Given the description of an element on the screen output the (x, y) to click on. 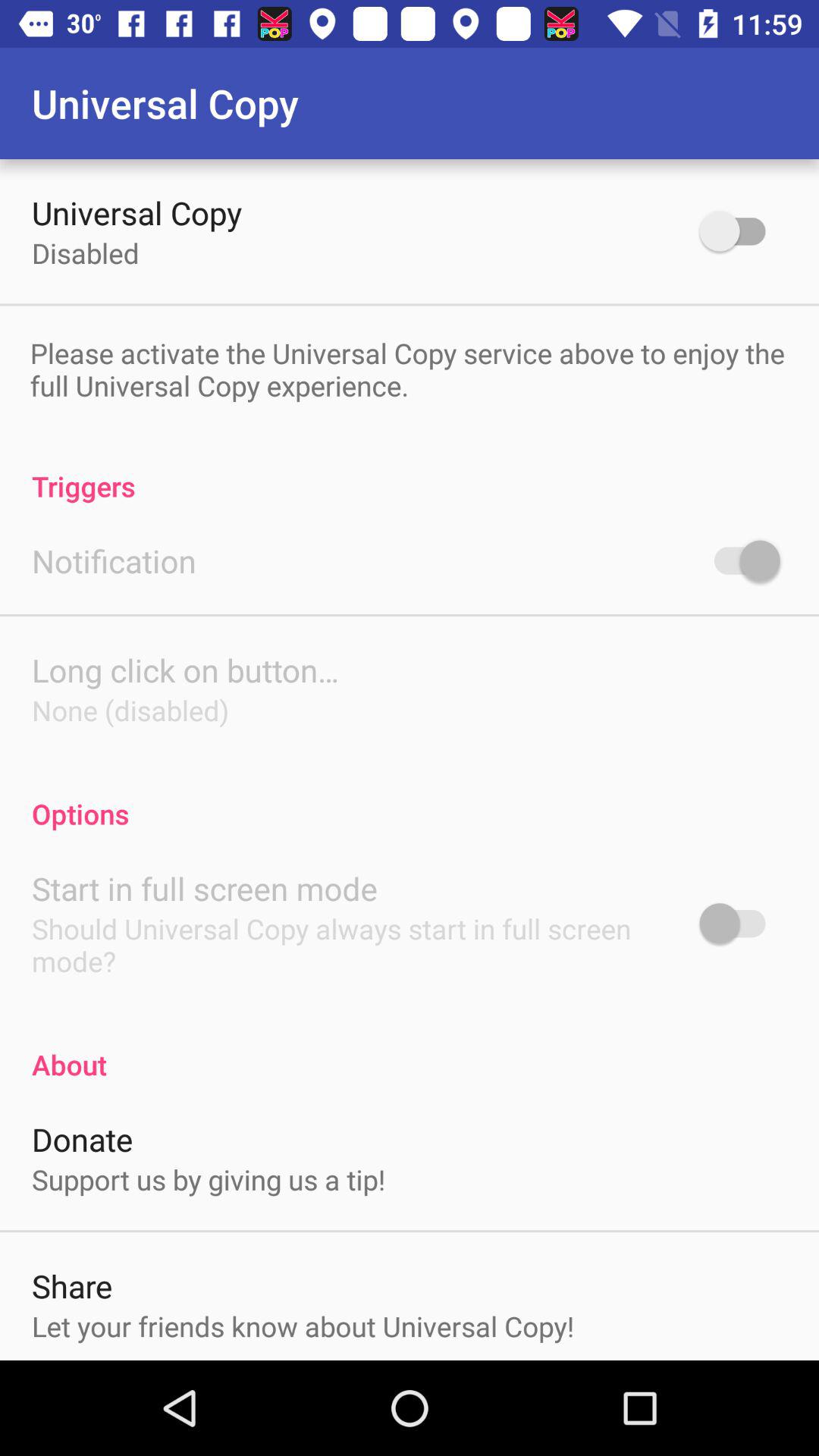
open the none (disabled) item (130, 710)
